Given the description of an element on the screen output the (x, y) to click on. 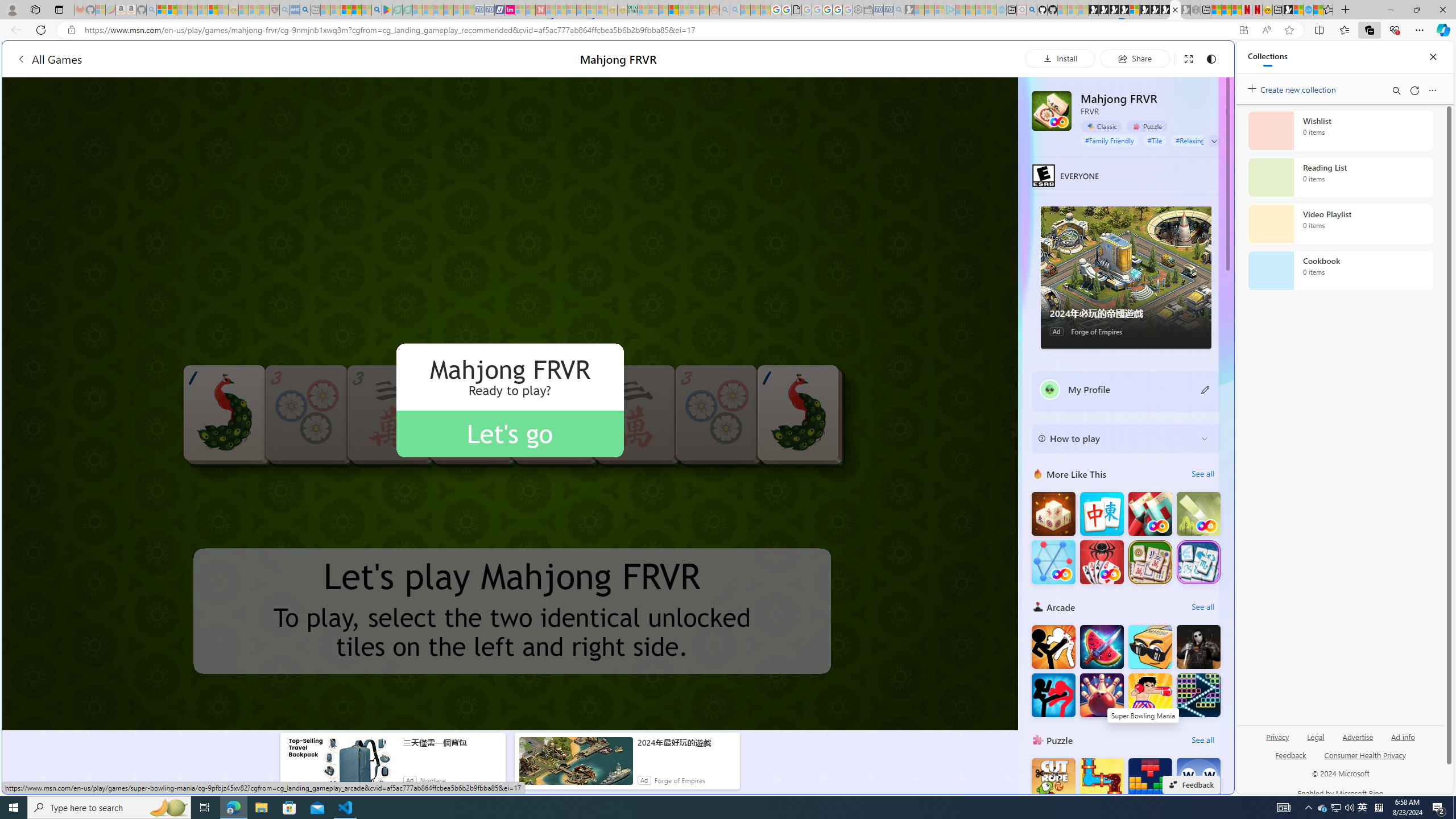
Stickman fighter : Epic battle (1053, 694)
Terms of Use Agreement - Sleeping (397, 9)
utah sues federal government - Search (922, 389)
AutomationID: gameCanvas (509, 403)
How to play (1116, 438)
Services - Maintenance | Sky Blue Bikes - Sky Blue Bikes (1307, 9)
Full screen (1187, 58)
